Given the description of an element on the screen output the (x, y) to click on. 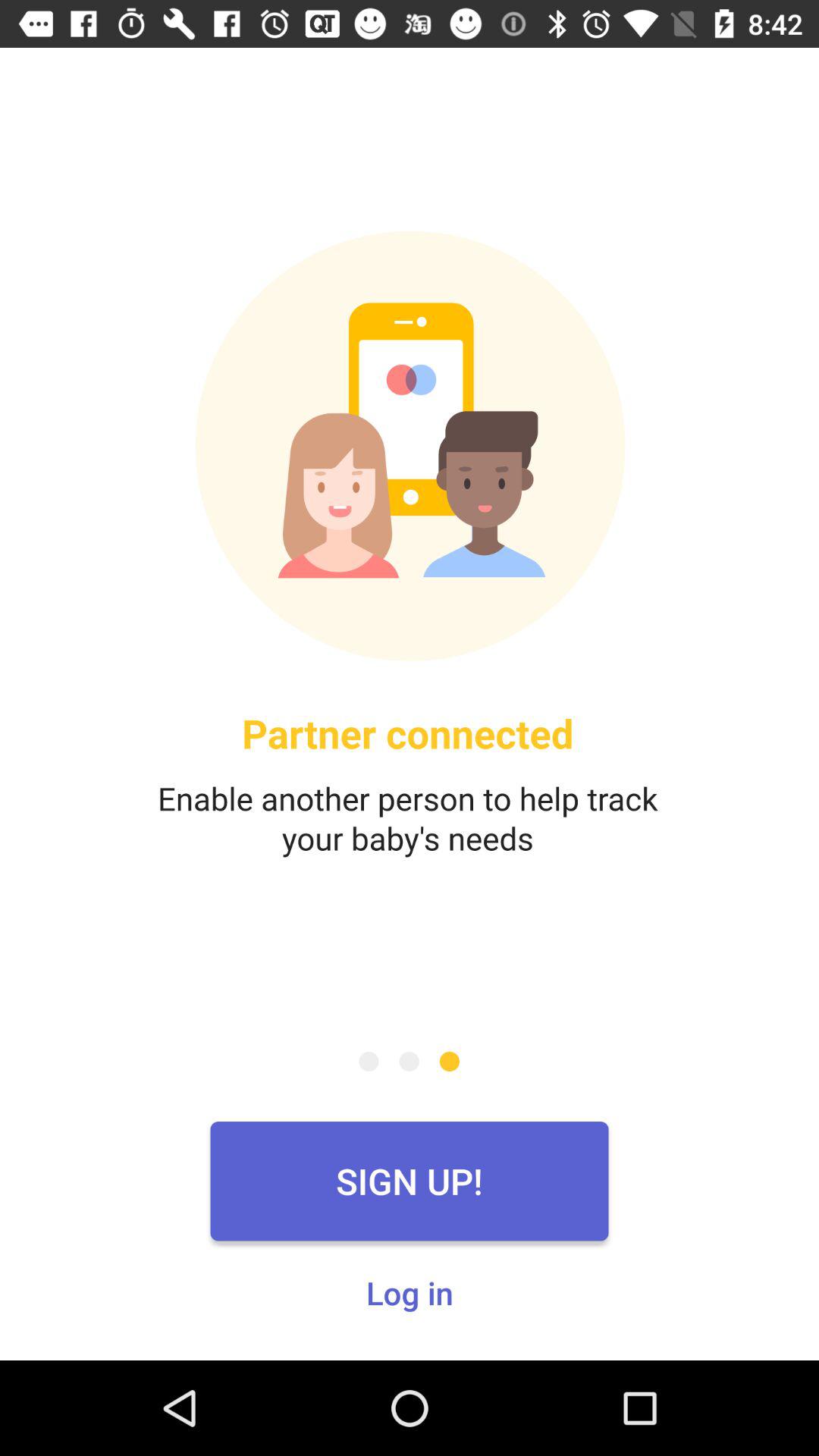
click log in icon (409, 1292)
